Given the description of an element on the screen output the (x, y) to click on. 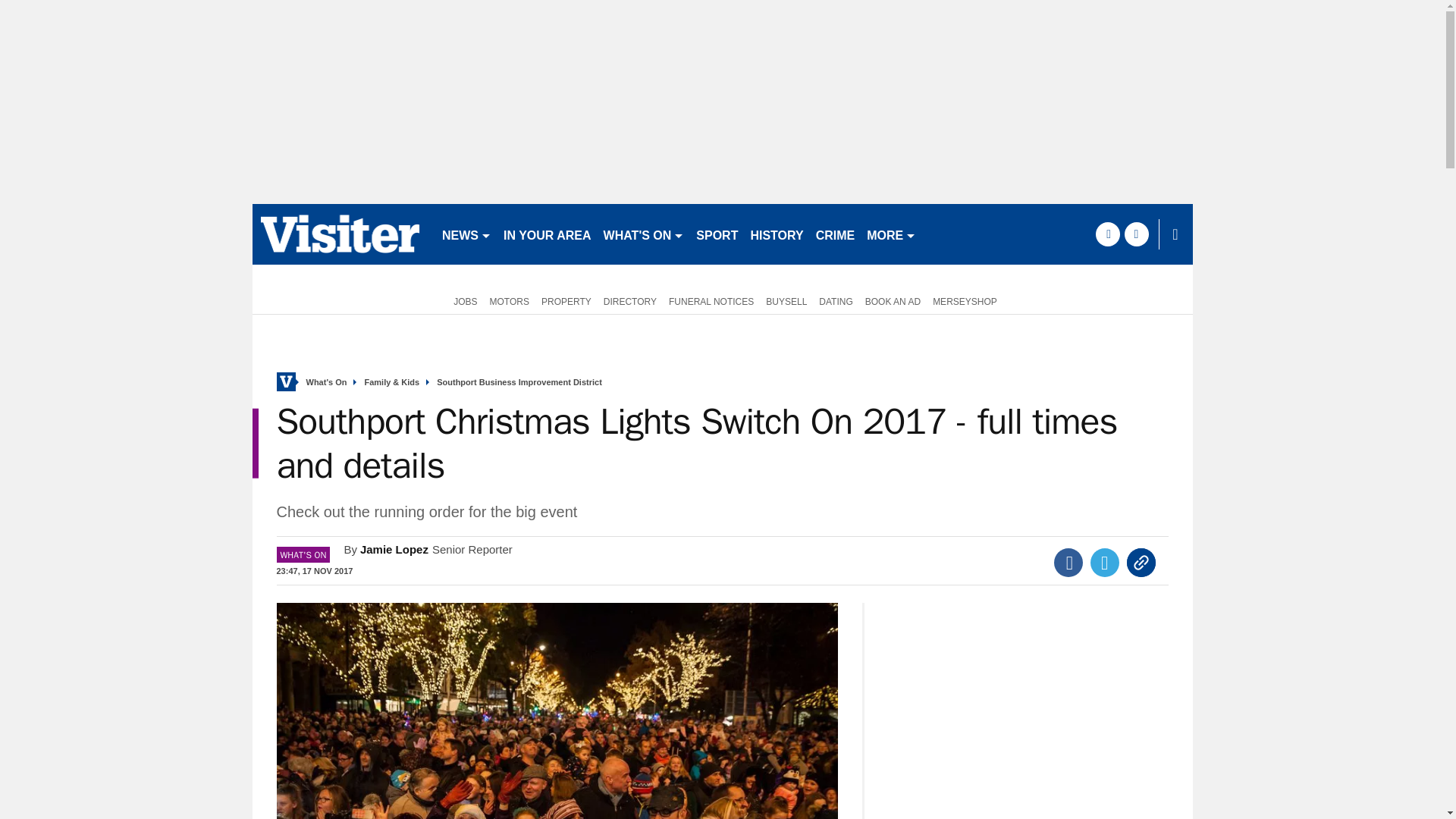
MERSEYSHOP (964, 300)
DIRECTORY (629, 300)
BUYSELL (786, 300)
BOOK AN AD (892, 300)
facebook (1106, 233)
Home (285, 381)
JOBS (462, 300)
DATING (835, 300)
HISTORY (776, 233)
WHAT'S ON (643, 233)
Facebook (1068, 562)
southportvisiter (339, 233)
IN YOUR AREA (546, 233)
MORE (890, 233)
FUNERAL NOTICES (711, 300)
